Given the description of an element on the screen output the (x, y) to click on. 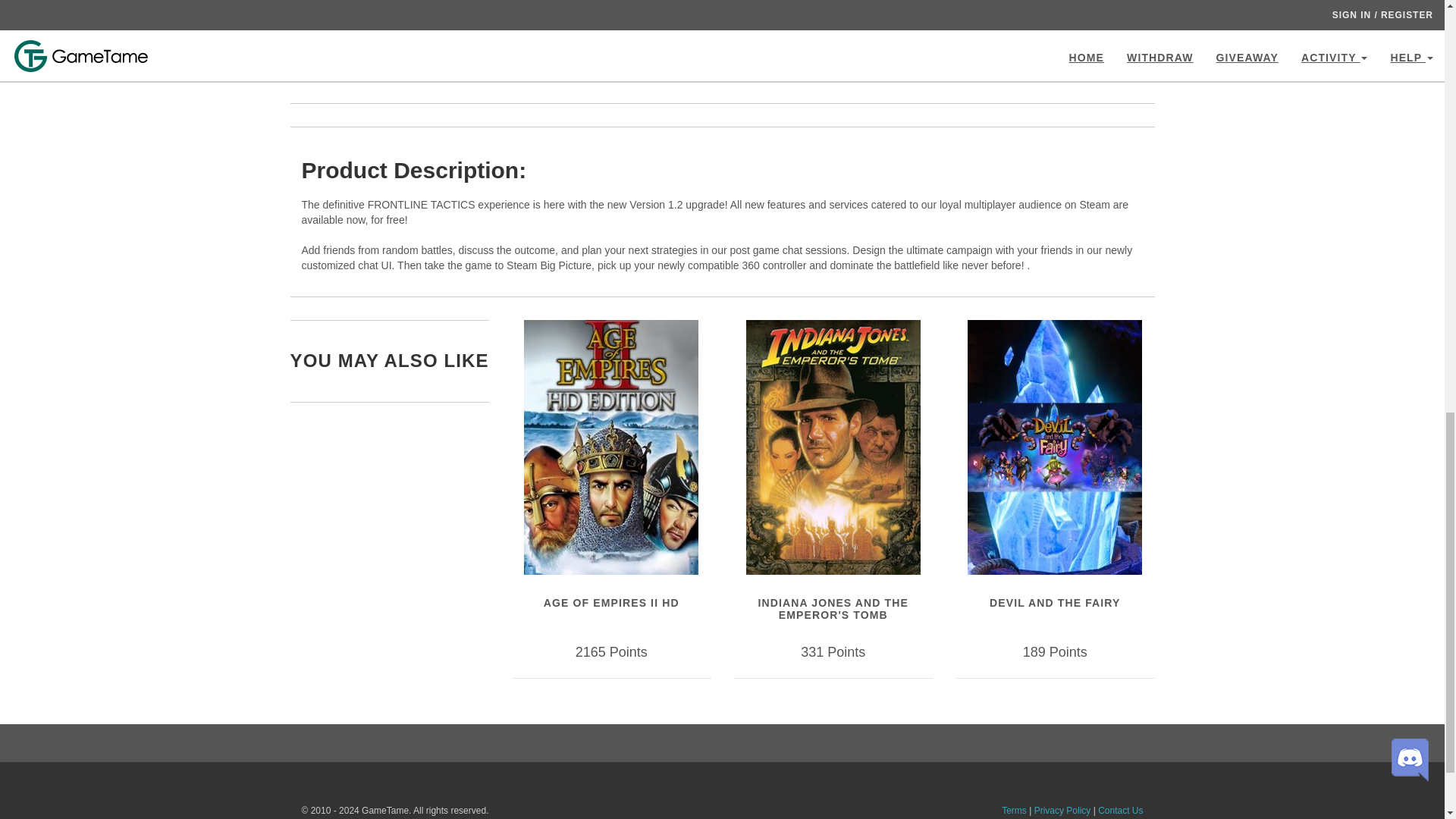
AGE OF EMPIRES II HD (611, 603)
Terms (1013, 810)
DEVIL AND THE FAIRY (1054, 603)
Privacy Policy (1061, 810)
INDIANA JONES AND THE EMPEROR'S TOMB (833, 608)
Contact Us (1119, 810)
